Given the description of an element on the screen output the (x, y) to click on. 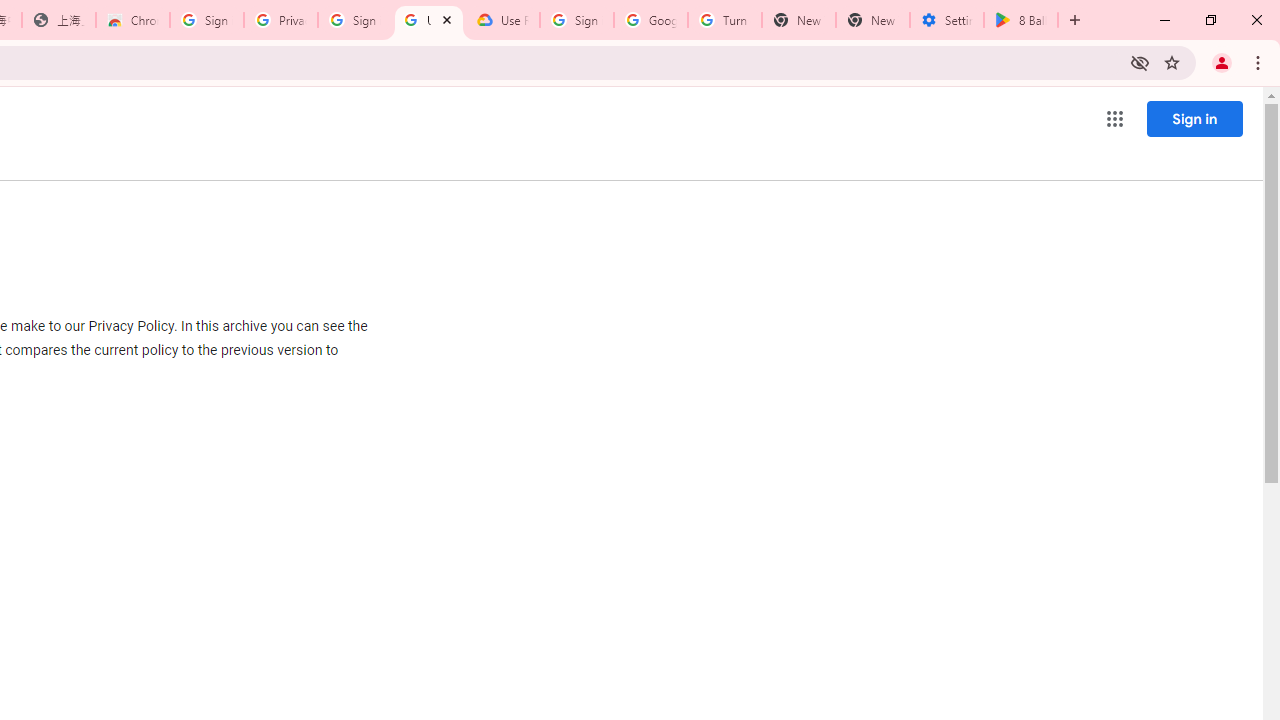
Chrome Web Store - Color themes by Chrome (133, 20)
Sign in - Google Accounts (577, 20)
Sign in - Google Accounts (207, 20)
Google Account Help (651, 20)
